Given the description of an element on the screen output the (x, y) to click on. 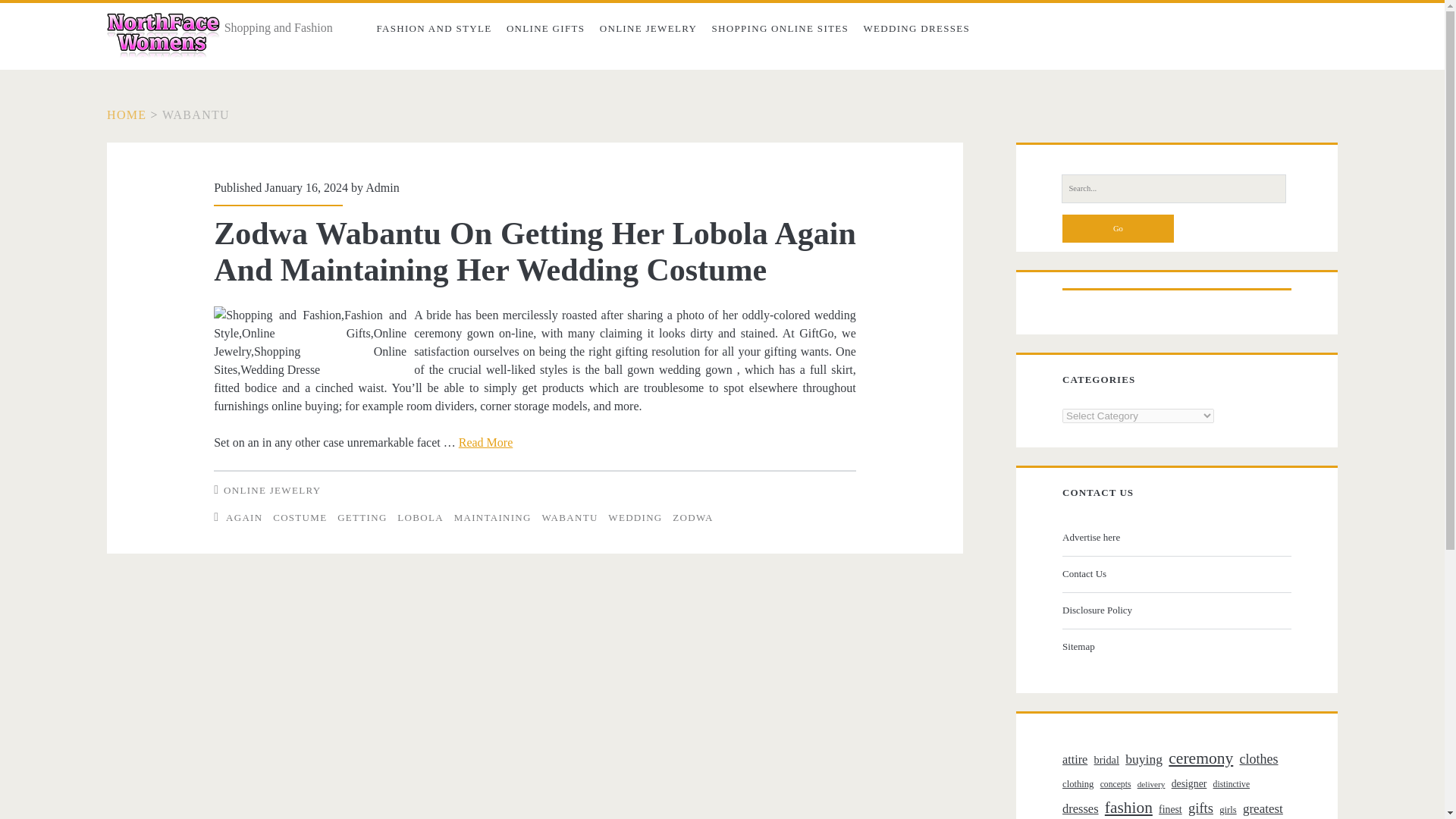
SHOPPING ONLINE SITES (780, 28)
Admin (381, 186)
WABANTU (568, 517)
concepts (1115, 784)
View all posts tagged wabantu (568, 517)
Go (1117, 227)
View all posts in Online Jewelry (272, 489)
Contact Us (1174, 574)
AGAIN (243, 517)
Sitemap (1174, 647)
